Given the description of an element on the screen output the (x, y) to click on. 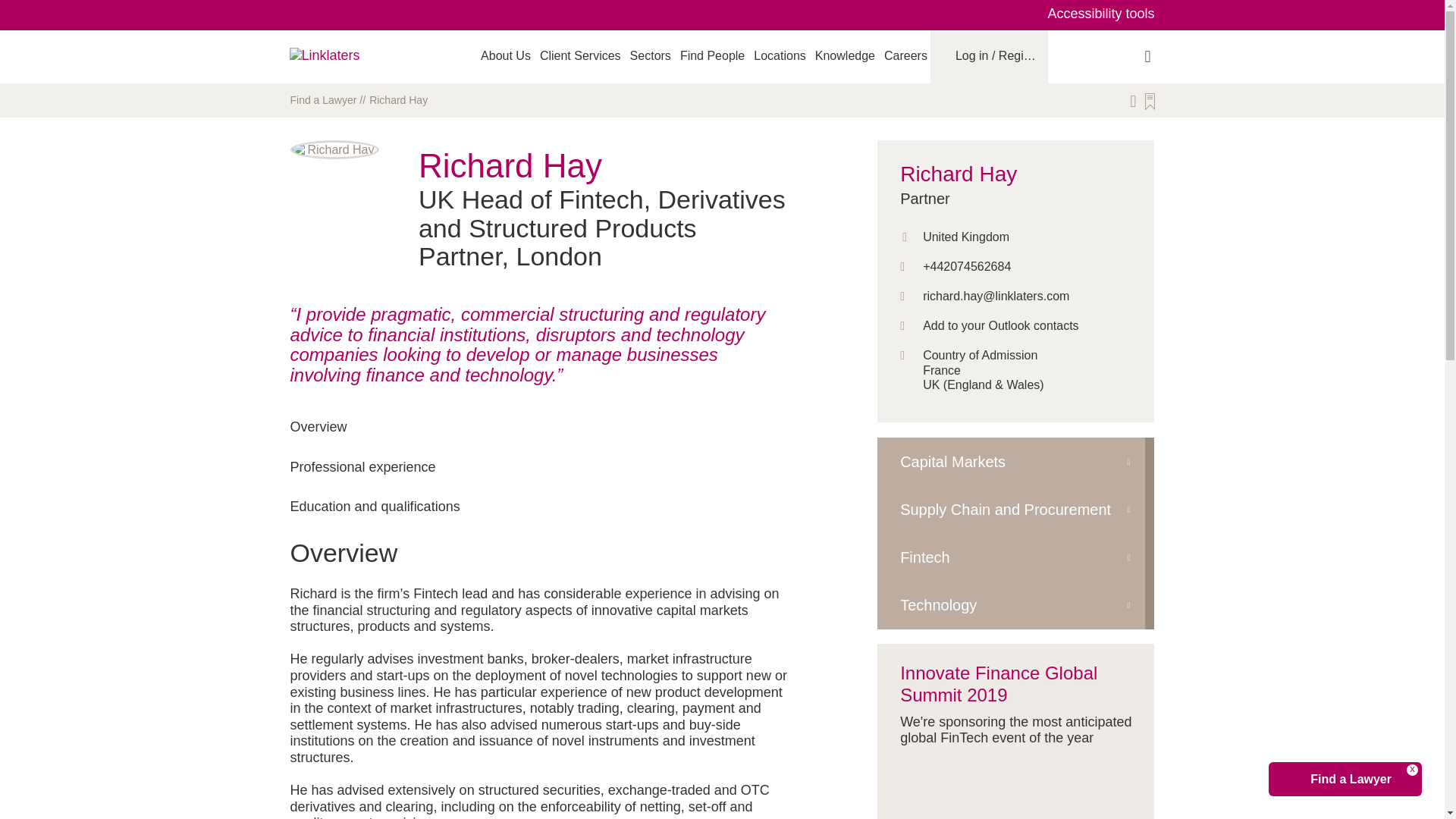
Find People (711, 55)
Locations (780, 55)
Sectors (650, 55)
About Us (505, 55)
Careers (905, 55)
Client Services (580, 55)
Knowledge (845, 55)
